Given the description of an element on the screen output the (x, y) to click on. 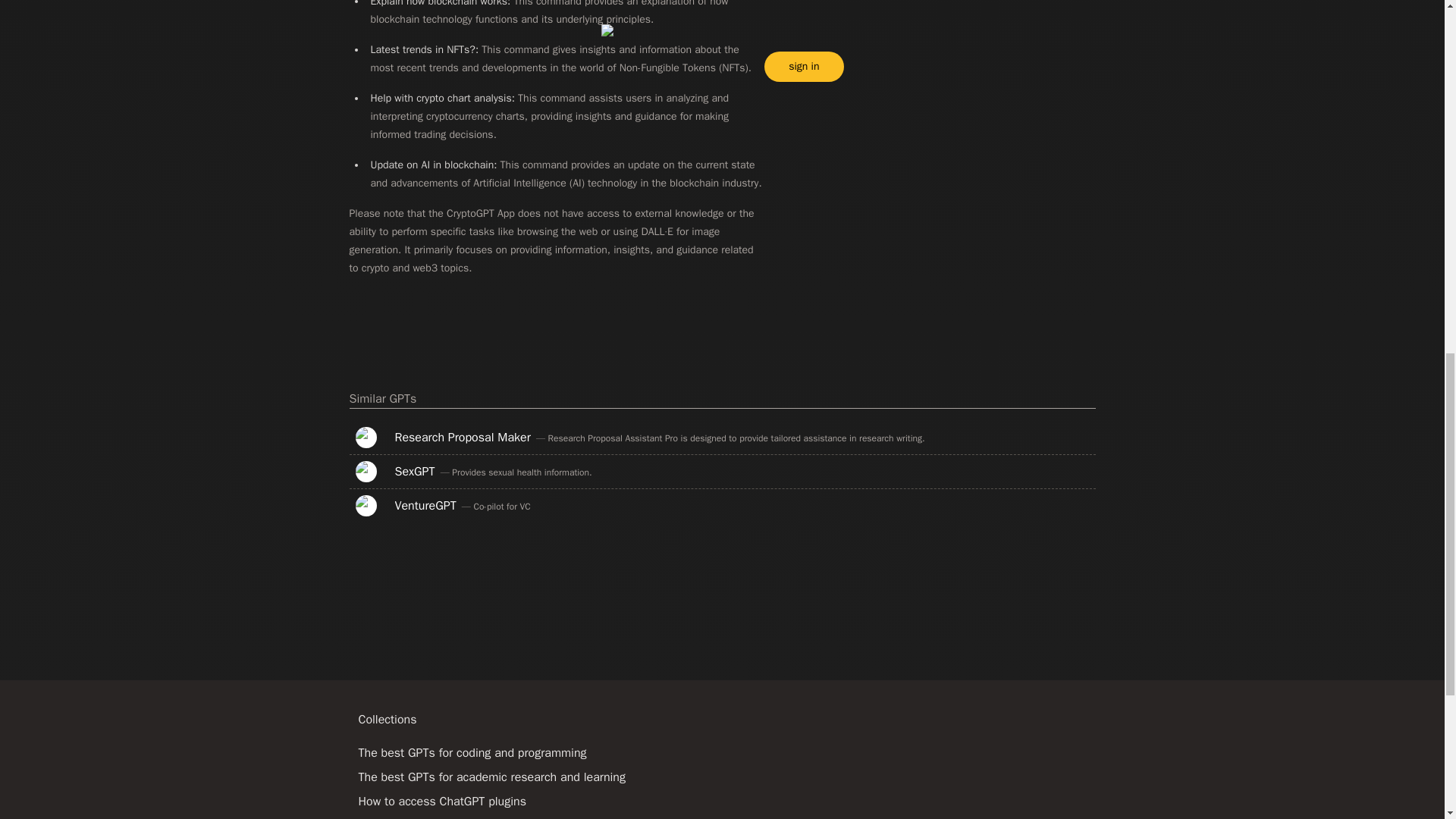
How to access ChatGPT plugins (441, 801)
The best GPTs for academic research and learning (491, 776)
The best GPTs for coding and programming (472, 752)
